Given the description of an element on the screen output the (x, y) to click on. 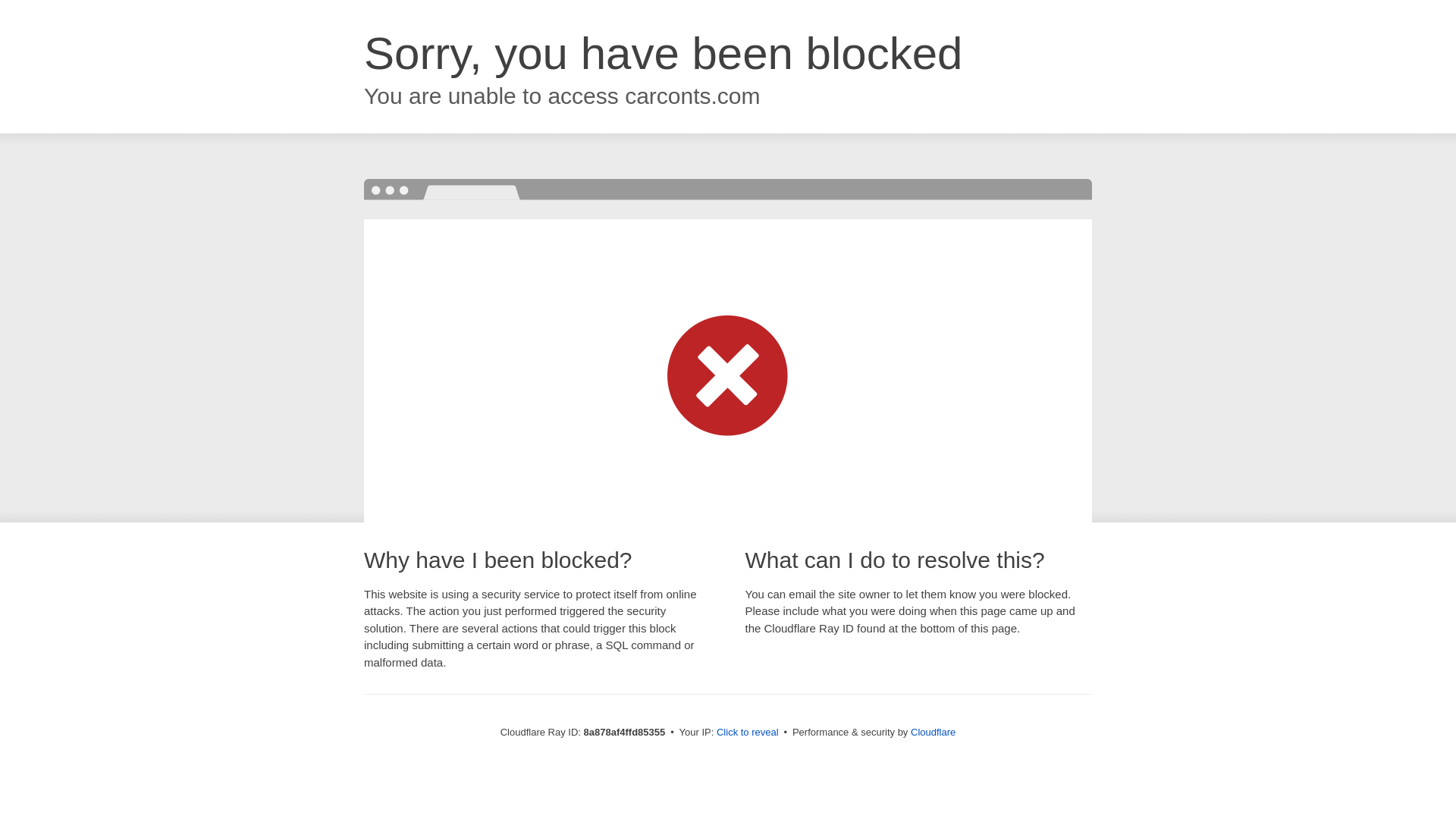
Cloudflare (933, 731)
Click to reveal (747, 732)
